Given the description of an element on the screen output the (x, y) to click on. 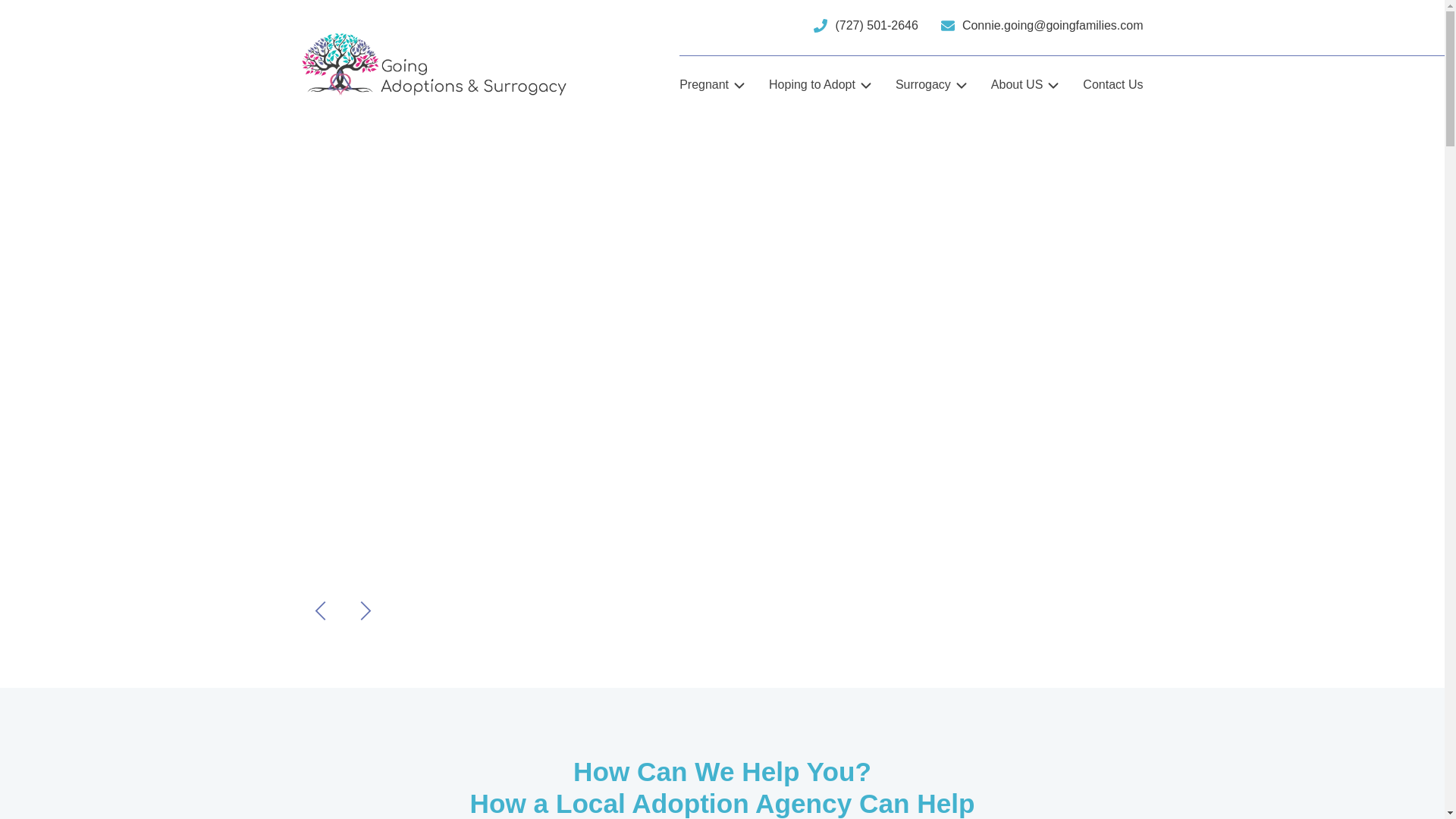
Pregnant (704, 85)
Contact Us (1112, 85)
Surrogacy (924, 85)
Hoping to Adopt (812, 85)
About US (1018, 85)
